Given the description of an element on the screen output the (x, y) to click on. 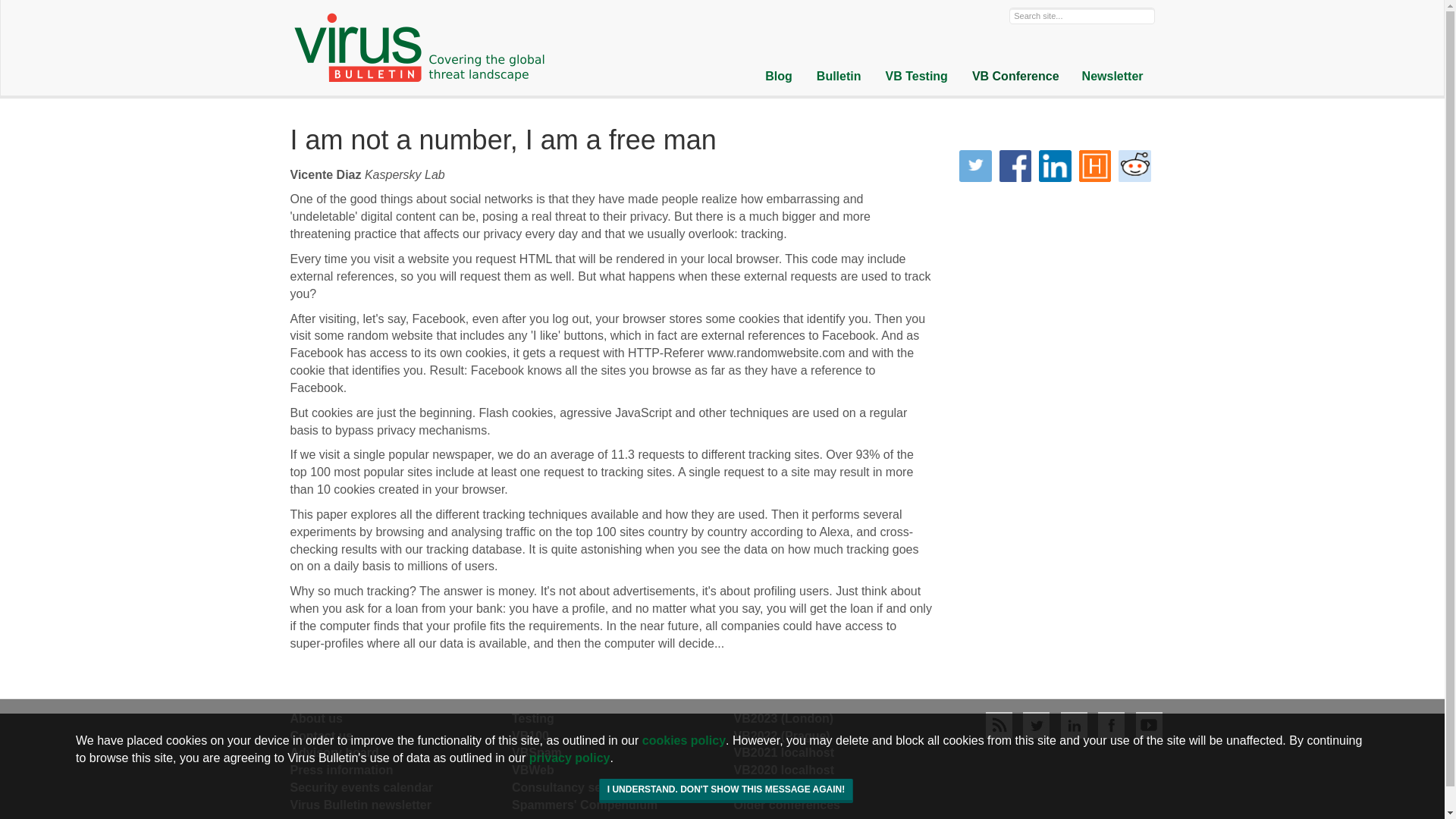
Contact Us (320, 735)
Share on LinkedIn (1055, 166)
Contact us (320, 735)
Advisory board (333, 752)
I understand. Don't show this message again! (725, 790)
VB Conference (1015, 76)
Consultancy Services (574, 787)
Share on Facebook (1014, 166)
VBSpam (537, 752)
Bulletin (838, 76)
Press (341, 769)
Press information (341, 769)
VB Testing (915, 76)
Tweet this! (975, 166)
Security events calendar (360, 787)
